Given the description of an element on the screen output the (x, y) to click on. 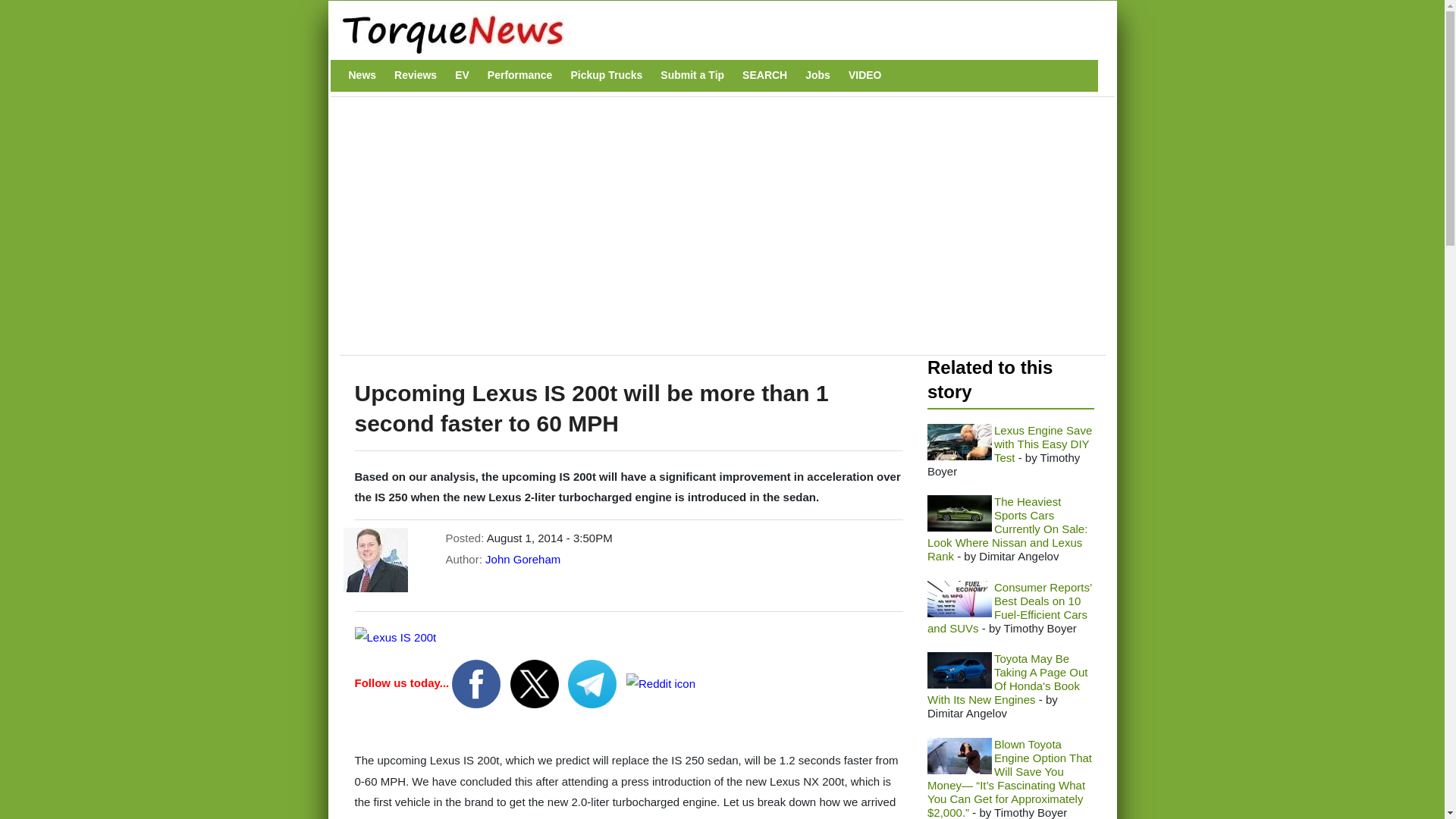
View user profile. (522, 558)
Advertisement (624, 233)
Submit a Tip (691, 75)
Jobs (817, 75)
News (362, 75)
2024 Bentley Continental GTC Speed PHEV (959, 513)
John Goreham (522, 558)
Join us on Telegram! (593, 682)
Pickup Trucks (605, 75)
